Given the description of an element on the screen output the (x, y) to click on. 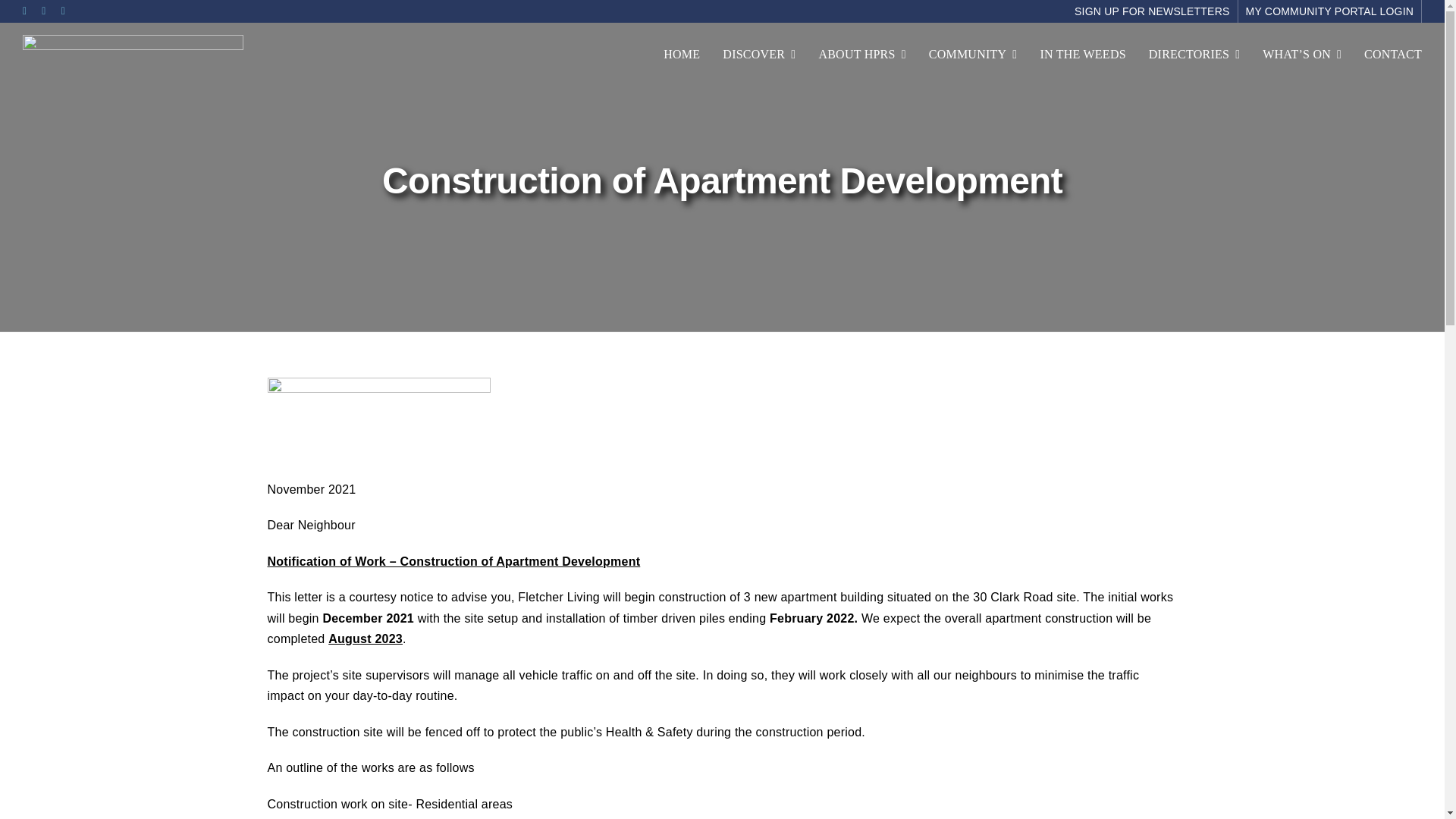
HOME (681, 54)
SIGN UP FOR NEWSLETTERS (1153, 11)
COMMUNITY (972, 54)
ABOUT HPRS (861, 54)
DIRECTORIES (1194, 54)
DISCOVER (758, 54)
MY COMMUNITY PORTAL LOGIN (1330, 11)
IN THE WEEDS (1082, 54)
